Given the description of an element on the screen output the (x, y) to click on. 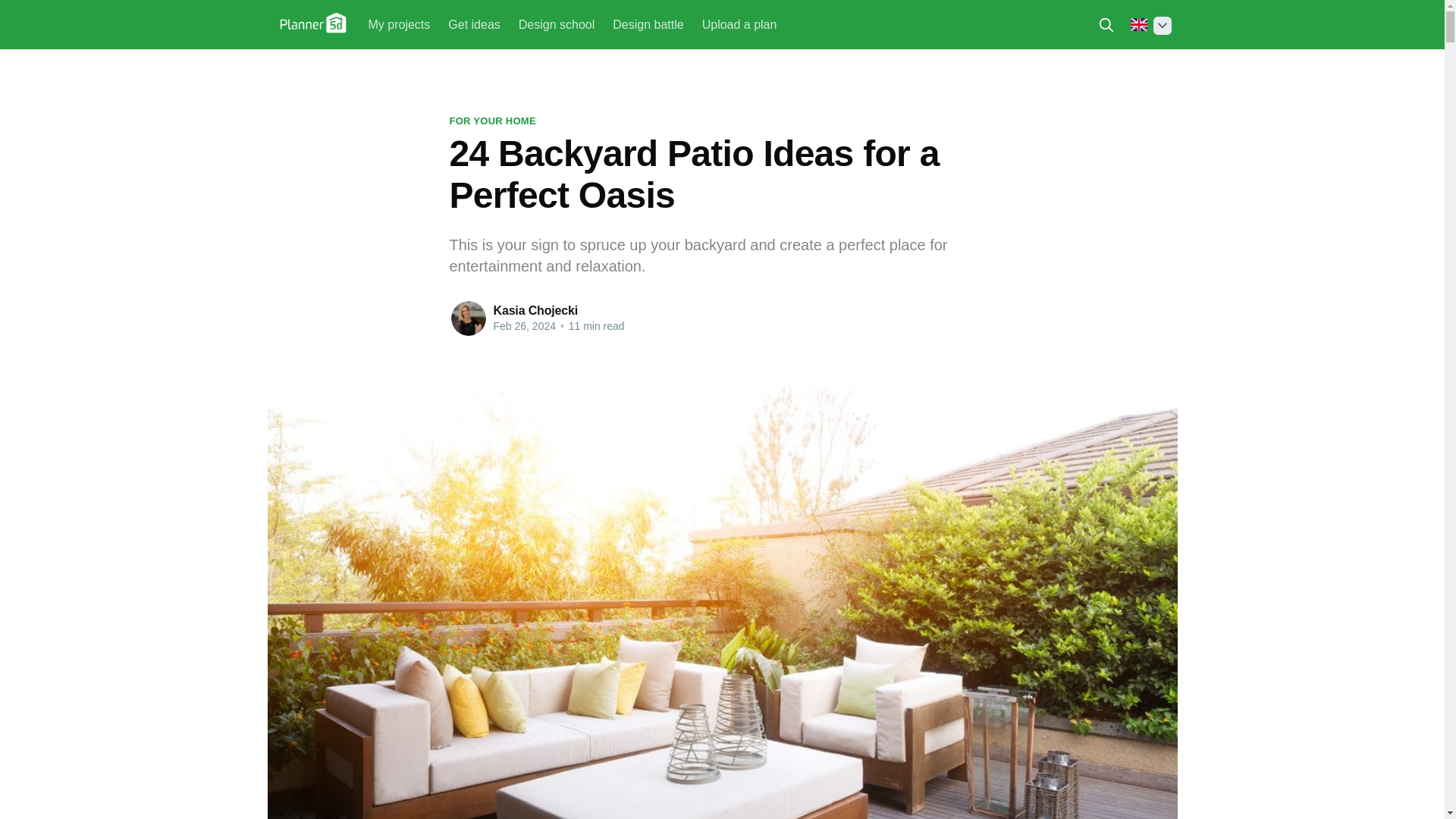
FOR YOUR HOME (491, 120)
Design battle (647, 24)
My projects (399, 24)
Kasia Chojecki (535, 309)
Upload a plan (739, 24)
Design school (556, 24)
Get ideas (473, 24)
